Given the description of an element on the screen output the (x, y) to click on. 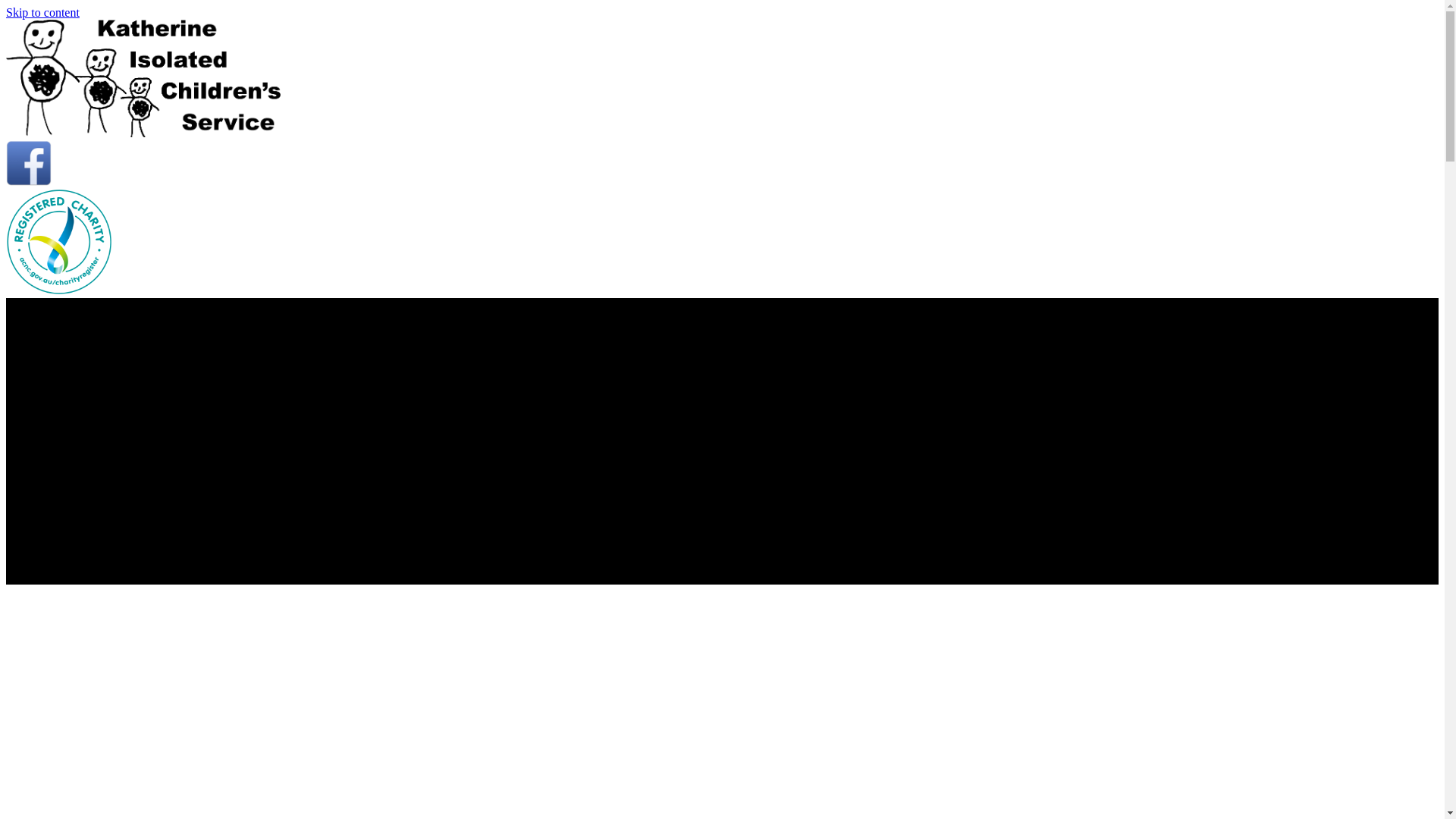
facebook Element type: hover (28, 162)
acnc-registered-charity Element type: hover (59, 241)
Skip to content Element type: text (42, 12)
logo Element type: hover (143, 78)
